Given the description of an element on the screen output the (x, y) to click on. 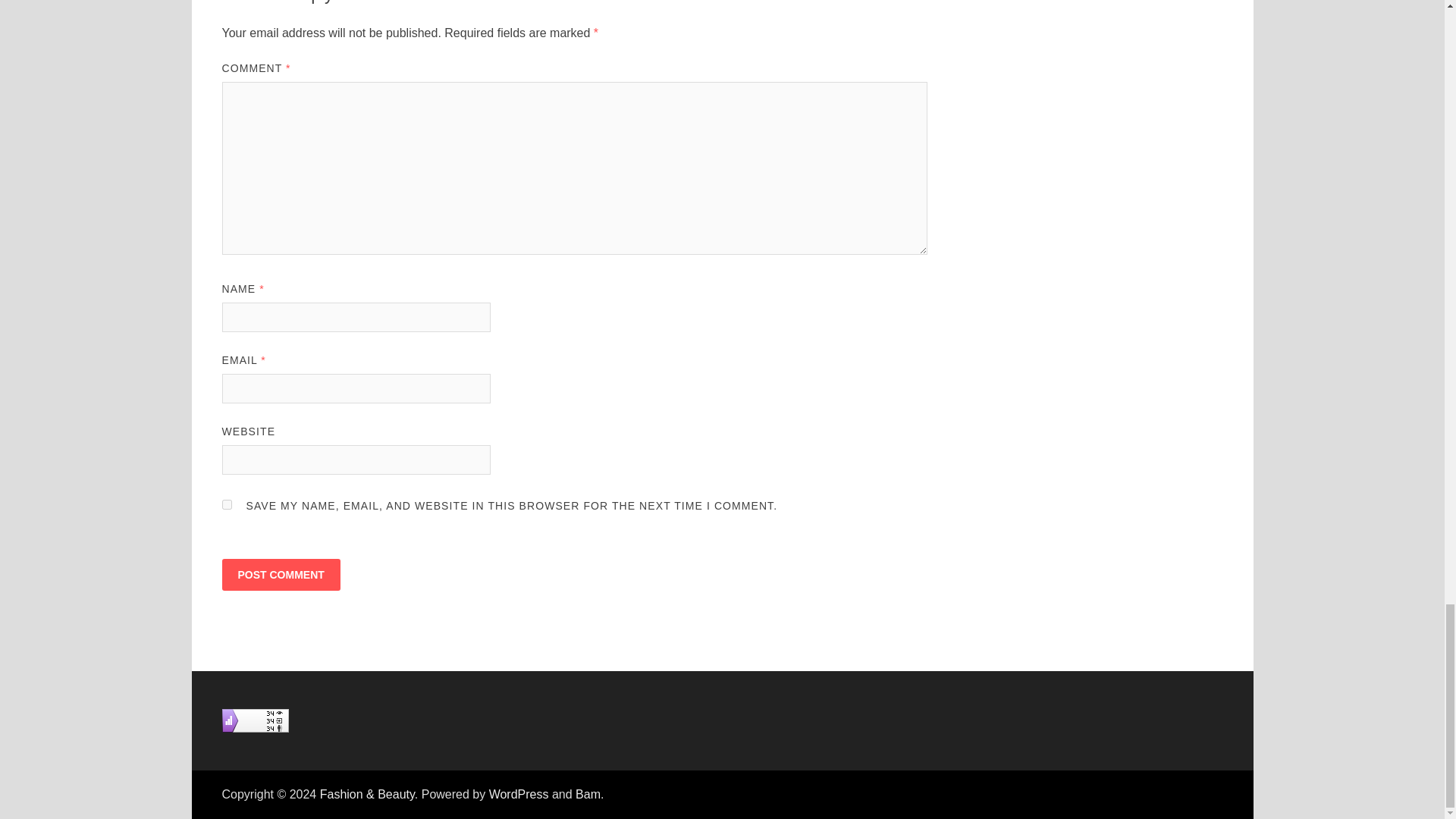
Post Comment (280, 574)
Bam (587, 793)
WordPress (518, 793)
Post Comment (280, 574)
yes (226, 504)
